Given the description of an element on the screen output the (x, y) to click on. 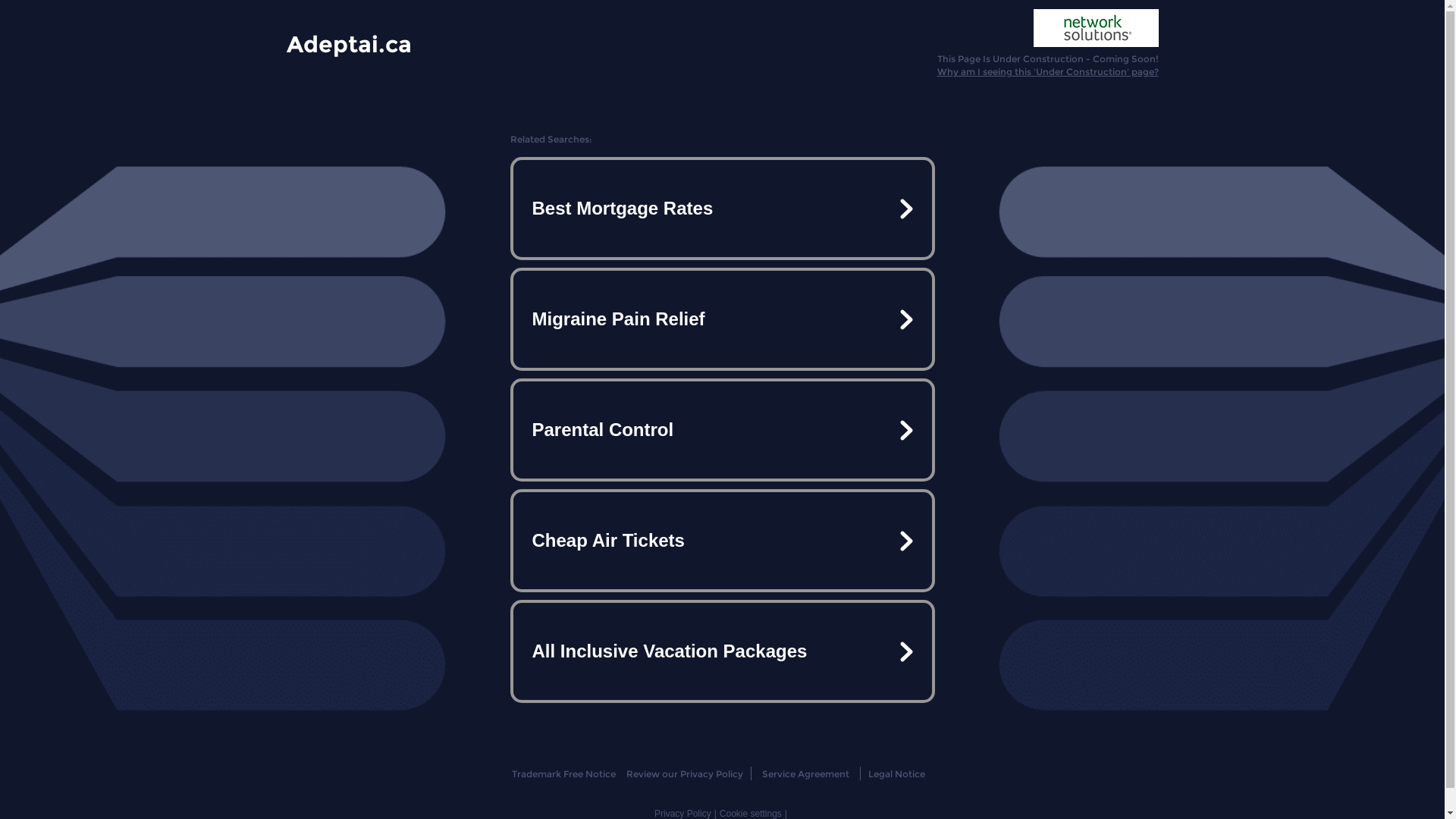
Legal Notice Element type: text (896, 773)
Why am I seeing this 'Under Construction' page? Element type: text (1047, 71)
Review our Privacy Policy Element type: text (684, 773)
All Inclusive Vacation Packages Element type: text (721, 650)
Adeptai.ca Element type: text (348, 43)
Best Mortgage Rates Element type: text (721, 208)
Parental Control Element type: text (721, 429)
Service Agreement Element type: text (805, 773)
Cheap Air Tickets Element type: text (721, 540)
Trademark Free Notice Element type: text (563, 773)
Migraine Pain Relief Element type: text (721, 318)
